Given the description of an element on the screen output the (x, y) to click on. 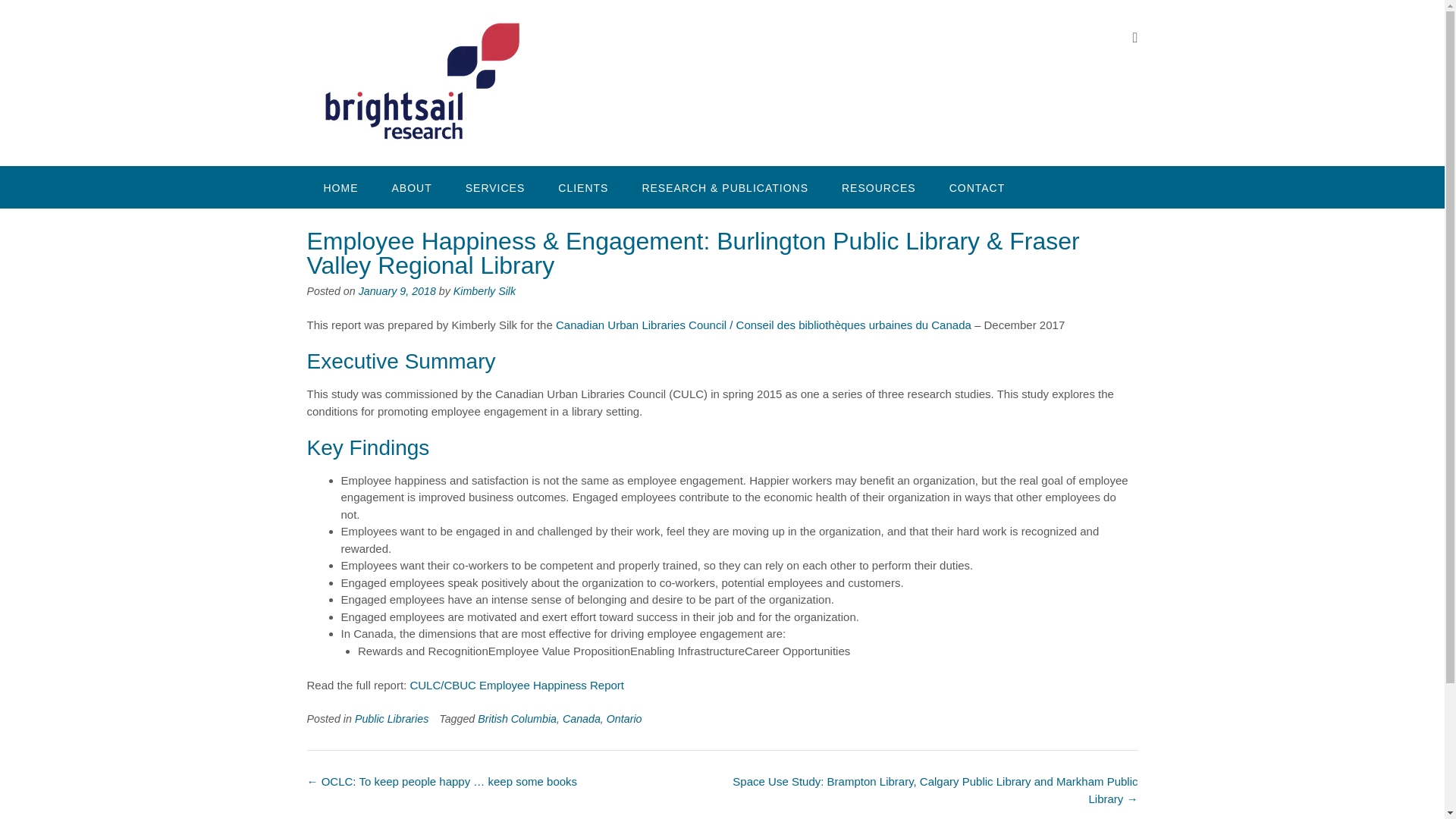
Public Libraries (391, 718)
RESOURCES (879, 187)
Ontario (624, 718)
CONTACT (977, 187)
SERVICES (494, 187)
CLIENTS (582, 187)
Kimberly Silk (483, 291)
British Columbia (516, 718)
Canada (580, 718)
HOME (339, 187)
